Given the description of an element on the screen output the (x, y) to click on. 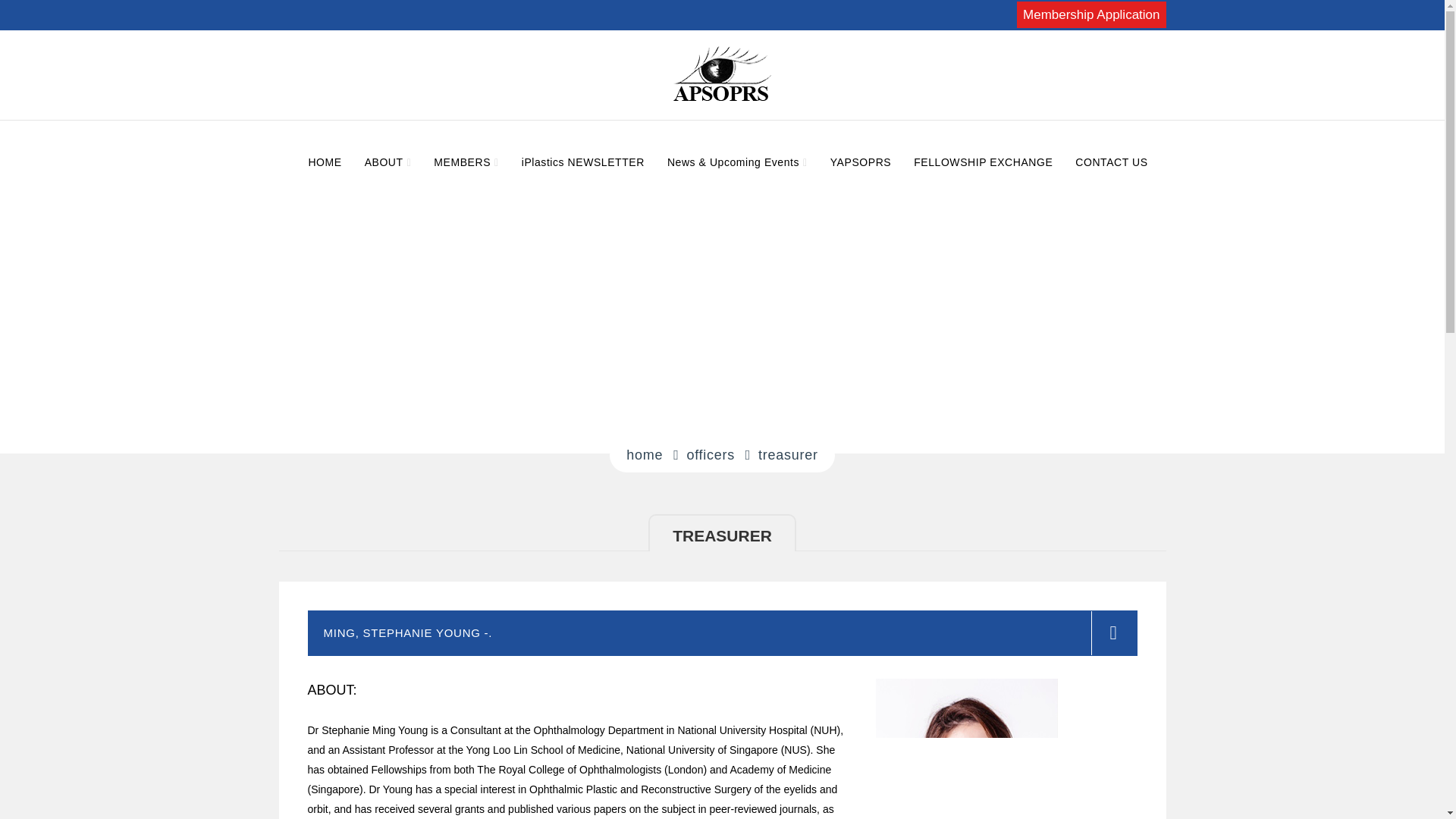
officers (709, 454)
FELLOWSHIP EXCHANGE (983, 161)
MING, STEPHANIE YOUNG -. (722, 633)
iPlastics NEWSLETTER (583, 161)
Membership Application (1091, 14)
home (644, 454)
